Given the description of an element on the screen output the (x, y) to click on. 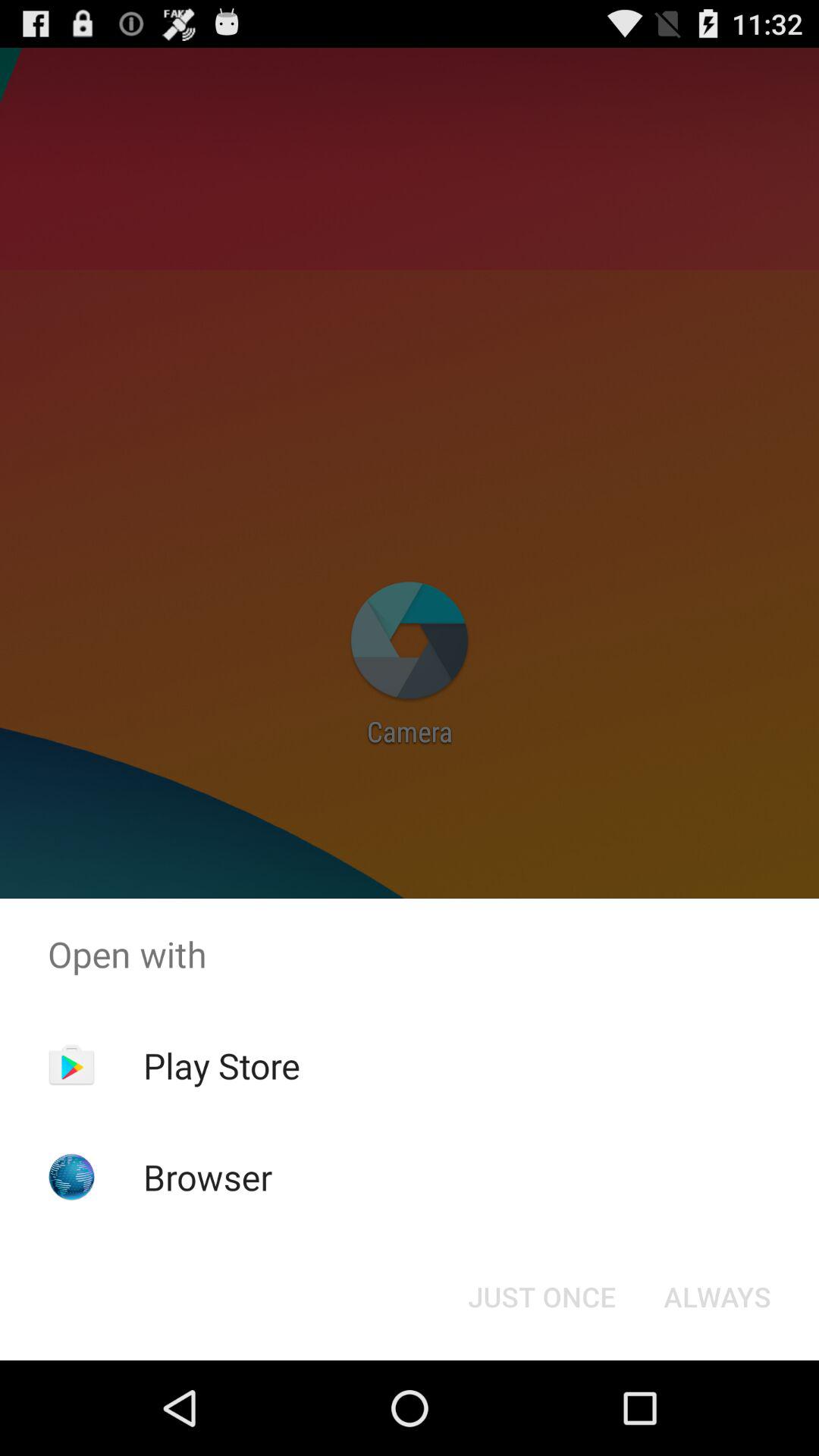
flip until the browser icon (207, 1176)
